Given the description of an element on the screen output the (x, y) to click on. 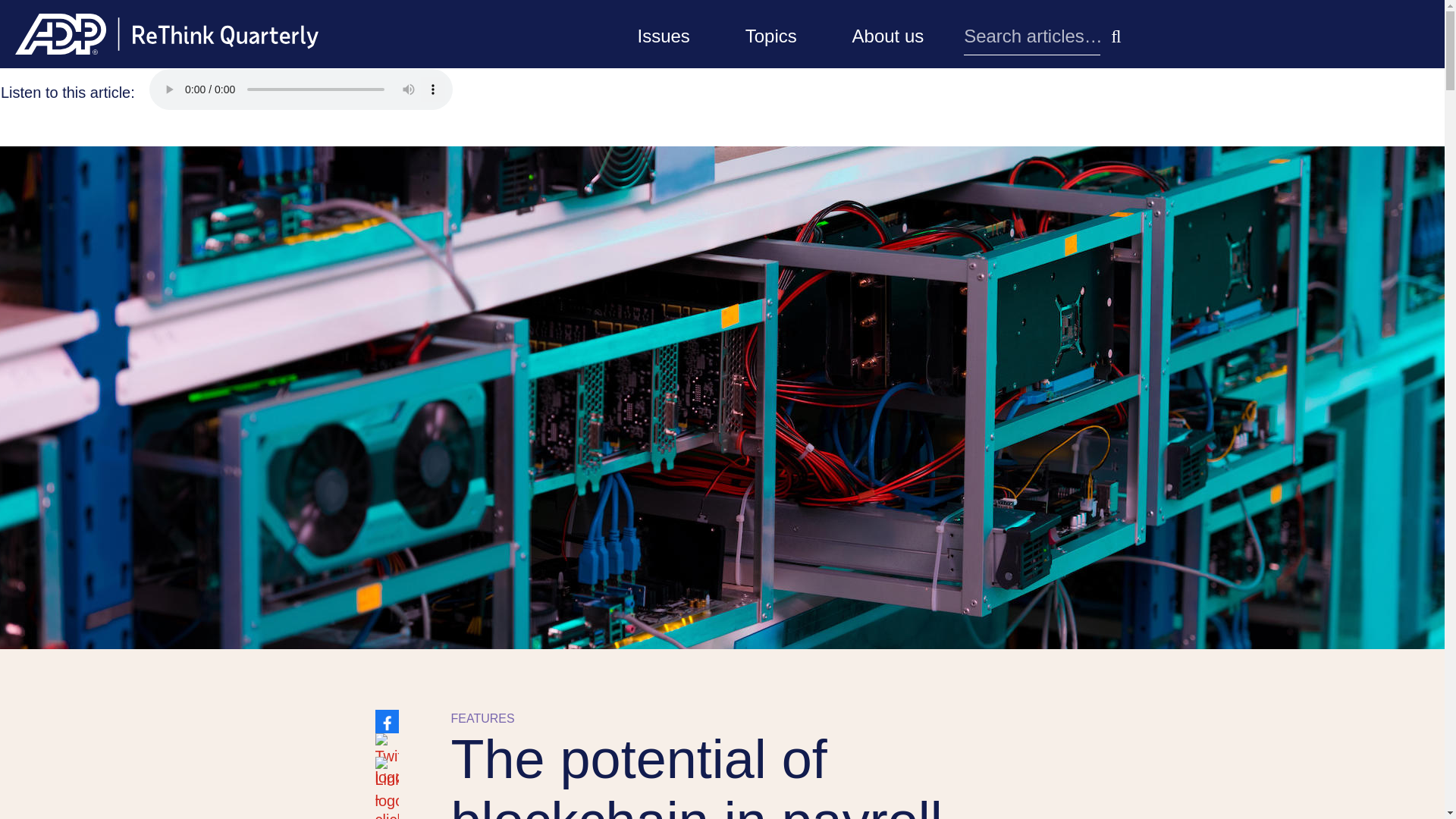
About us (888, 33)
FEATURES (481, 717)
Issues (662, 33)
Topics (771, 33)
Issues (662, 33)
Topics (771, 33)
